Given the description of an element on the screen output the (x, y) to click on. 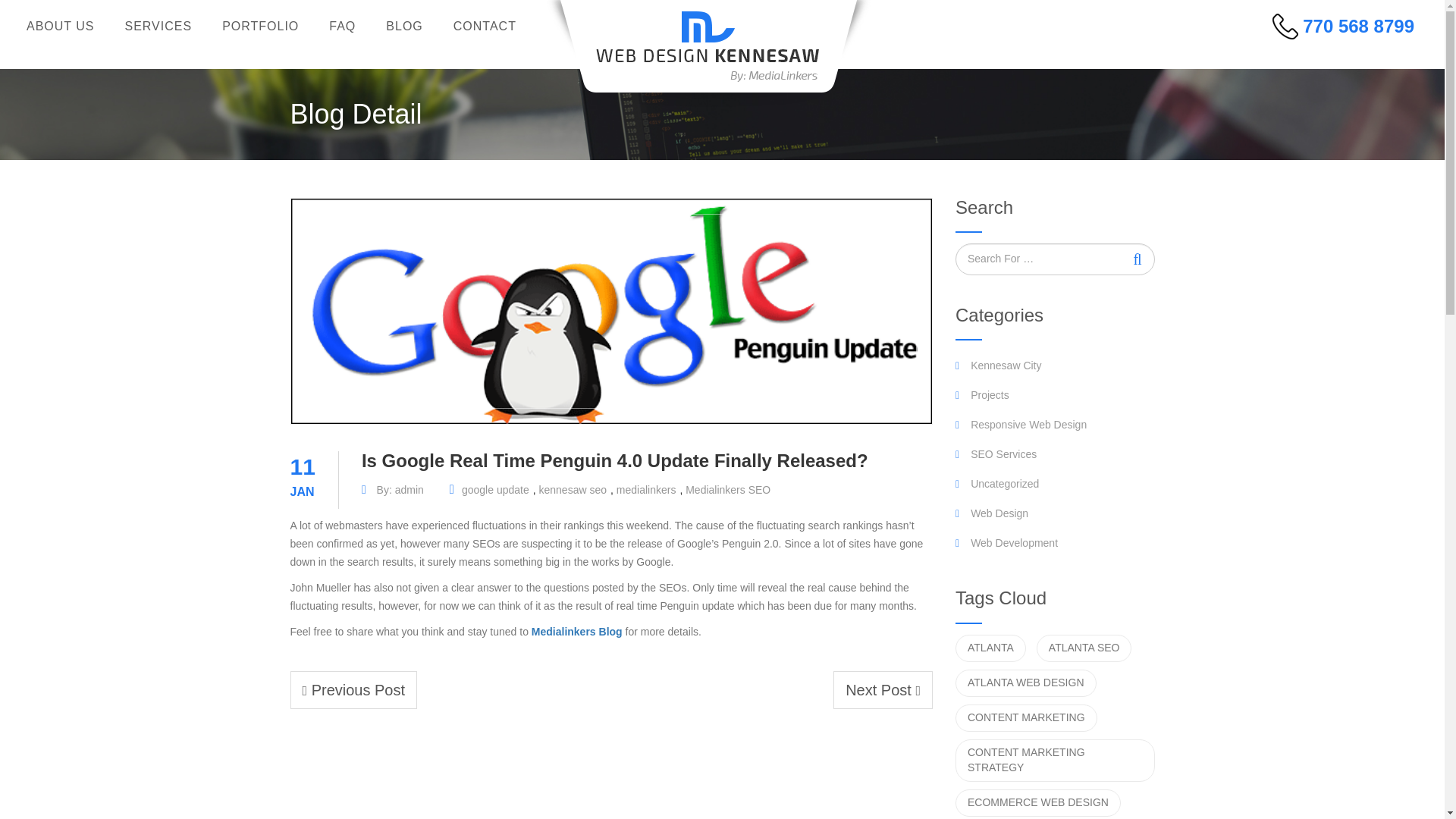
CONTENT MARKETING STRATEGY (1054, 760)
BLOG (404, 26)
ABOUT US (60, 26)
ECOMMERCE WEB DESIGN (1038, 802)
ATLANTA (990, 647)
Projects (1054, 395)
Responsive Web Design (1054, 424)
Web Development (1054, 542)
Previous Post (352, 690)
CONTACT (484, 26)
Uncategorized (1054, 483)
SERVICES (157, 26)
google update (495, 490)
FAQ (342, 26)
CONTENT MARKETING (1026, 718)
